Given the description of an element on the screen output the (x, y) to click on. 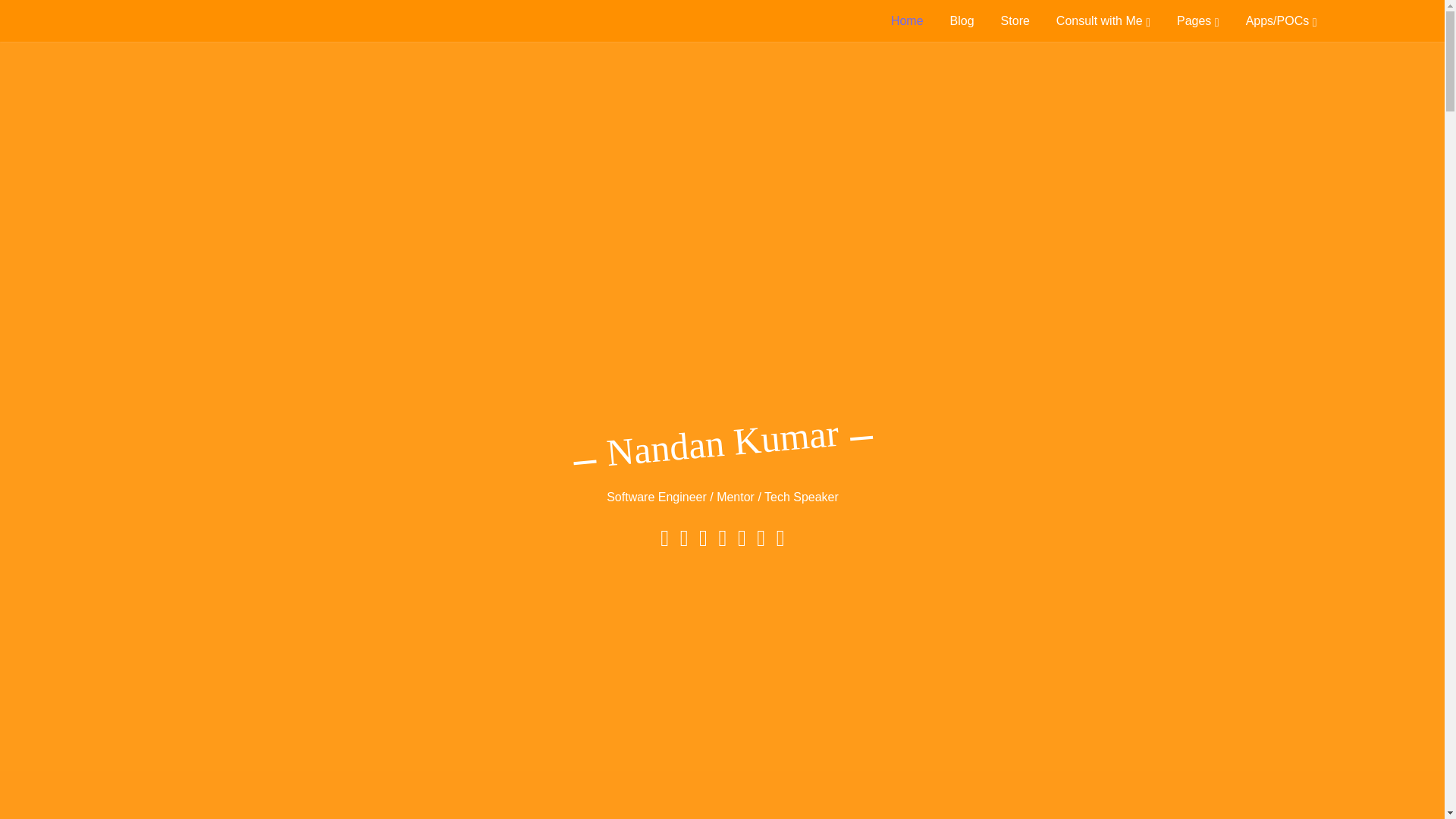
Store (1014, 20)
Consult with Me (1102, 20)
Pages (1197, 20)
Home (906, 20)
Blog (961, 20)
